Given the description of an element on the screen output the (x, y) to click on. 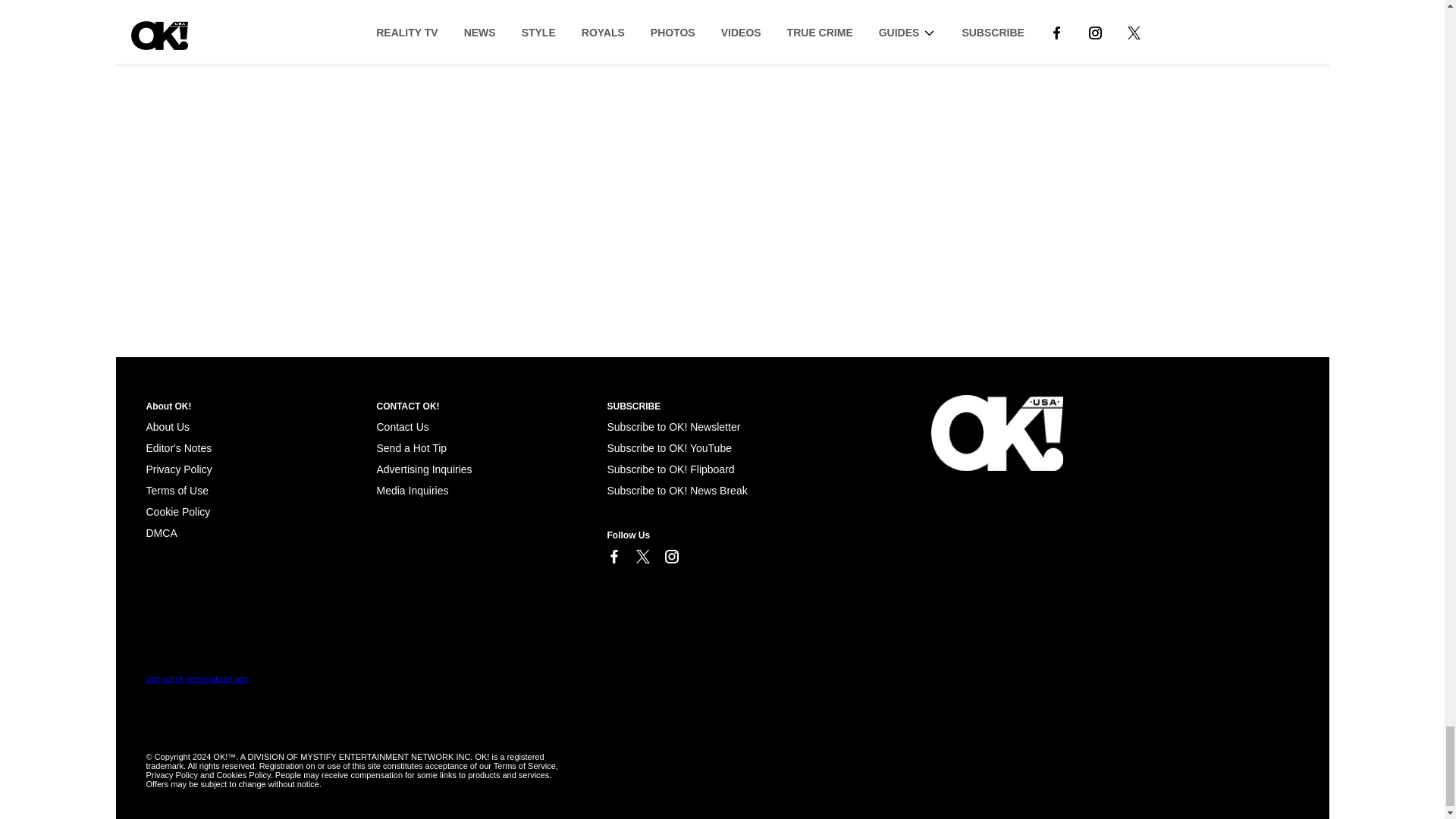
About Us (167, 426)
Send a Hot Tip (410, 448)
Terms of Use (176, 490)
Link to X (641, 556)
Cookie Policy (160, 532)
Editor's Notes (178, 448)
Link to Facebook (613, 556)
Contact Us (401, 426)
Cookie Policy (177, 511)
Link to Instagram (670, 556)
